Given the description of an element on the screen output the (x, y) to click on. 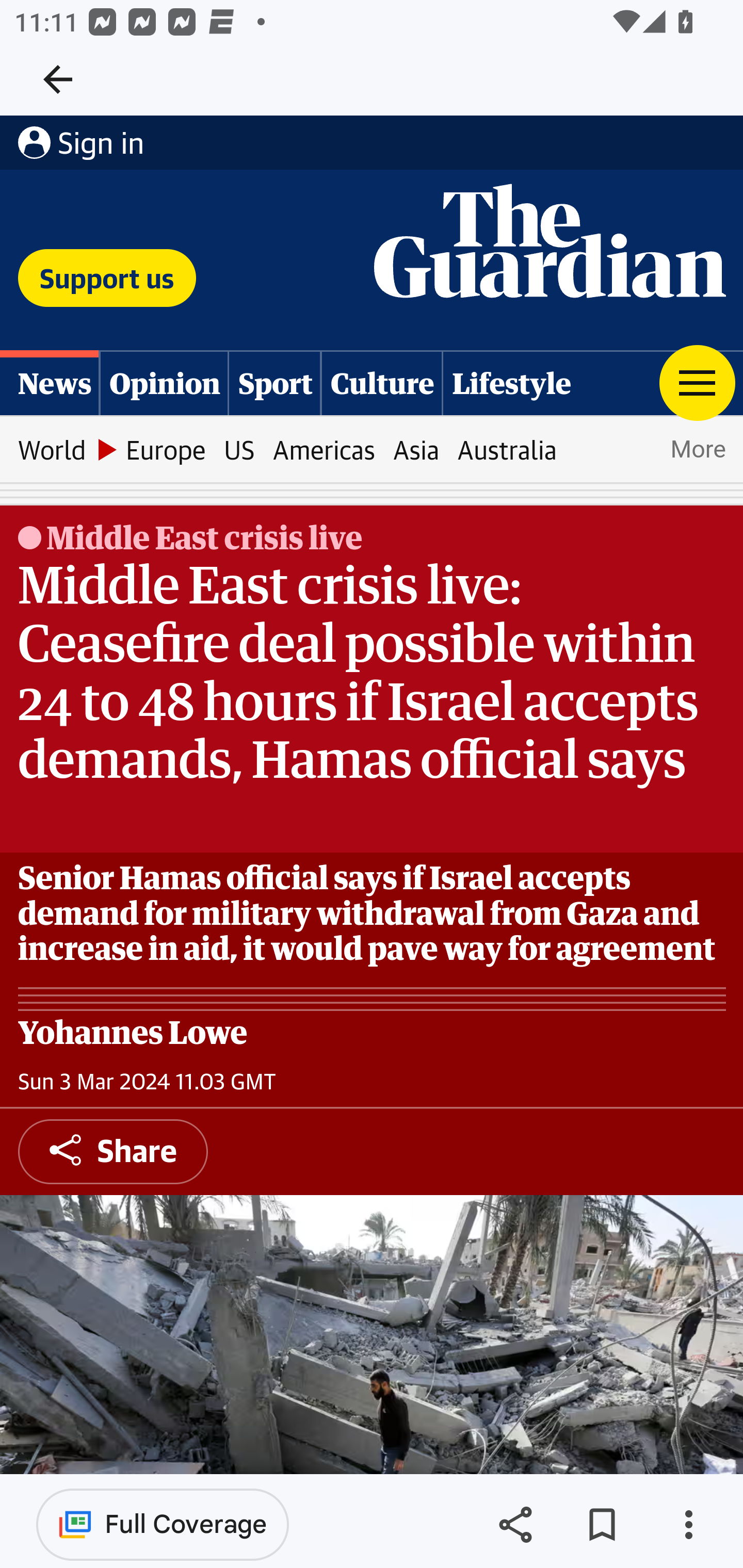
Navigate up (57, 79)
Sign in (80, 143)
Support us (106, 278)
Toggle main menu (697, 382)
News (50, 382)
Opinion (164, 382)
Sport (275, 382)
Culture (382, 382)
Lifestyle (511, 382)
World (51, 449)
Europe (165, 449)
US (239, 449)
Americas (323, 449)
Asia (415, 449)
Australia (507, 449)
More (697, 449)
Middle East crisis live (203, 537)
Yohannes Lowe (132, 1031)
Sun 3 Mar 2024 11.03 GMT (146, 1081)
Share (113, 1152)
Share (514, 1524)
Save for later (601, 1524)
More options (688, 1524)
Full Coverage (162, 1524)
